Given the description of an element on the screen output the (x, y) to click on. 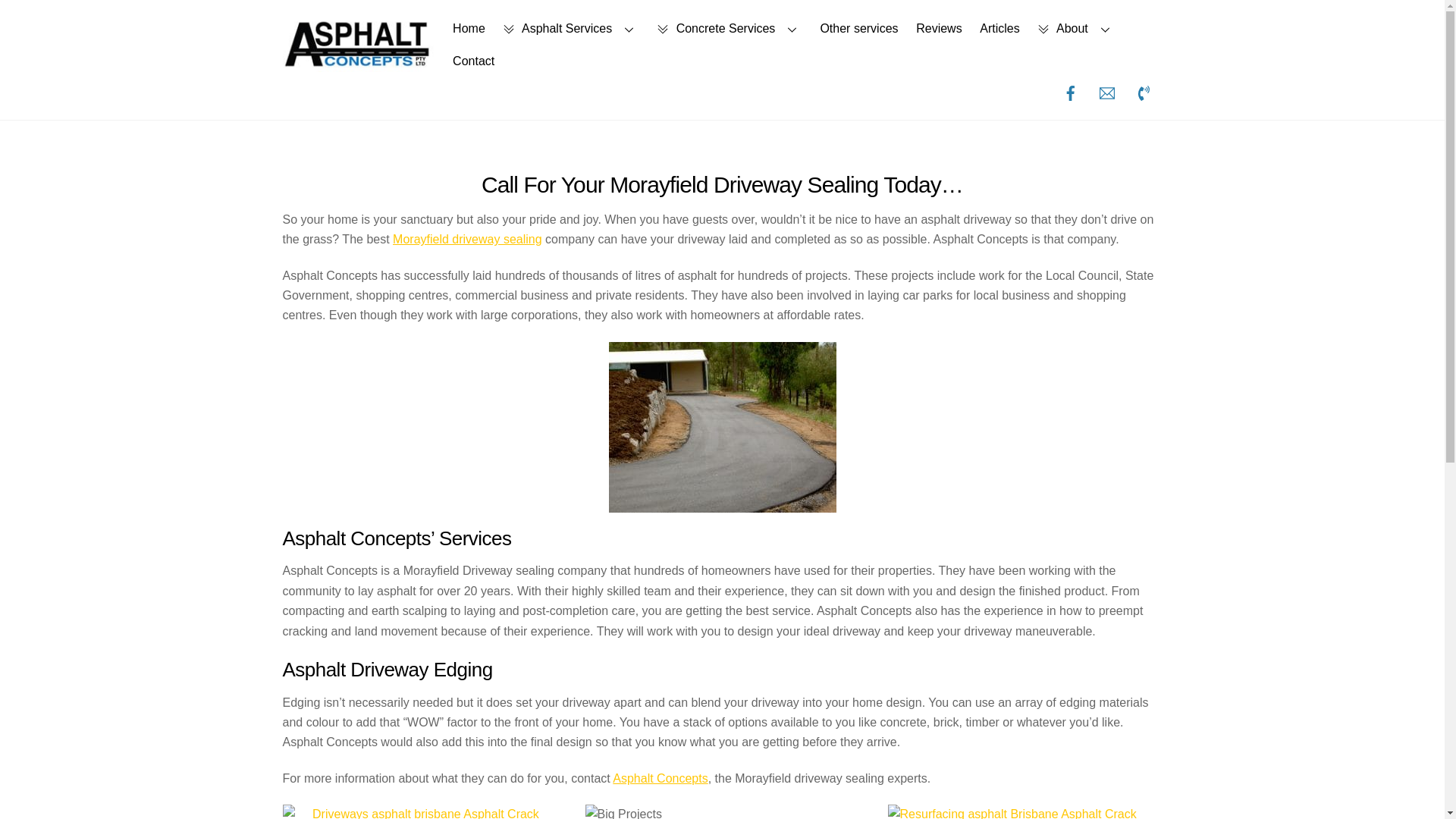
Asphalt Services (571, 28)
Driveways (419, 811)
Contact (473, 60)
Asphalt Concepts (357, 64)
Home (469, 28)
Reviews (938, 28)
Big Projects (623, 811)
Articles (999, 28)
Asphalt Concepts (659, 778)
Other services (858, 28)
Concrete Services (729, 28)
Morayfield driveway sealing (467, 238)
Resurfacing (1024, 811)
About (1076, 28)
